Given the description of an element on the screen output the (x, y) to click on. 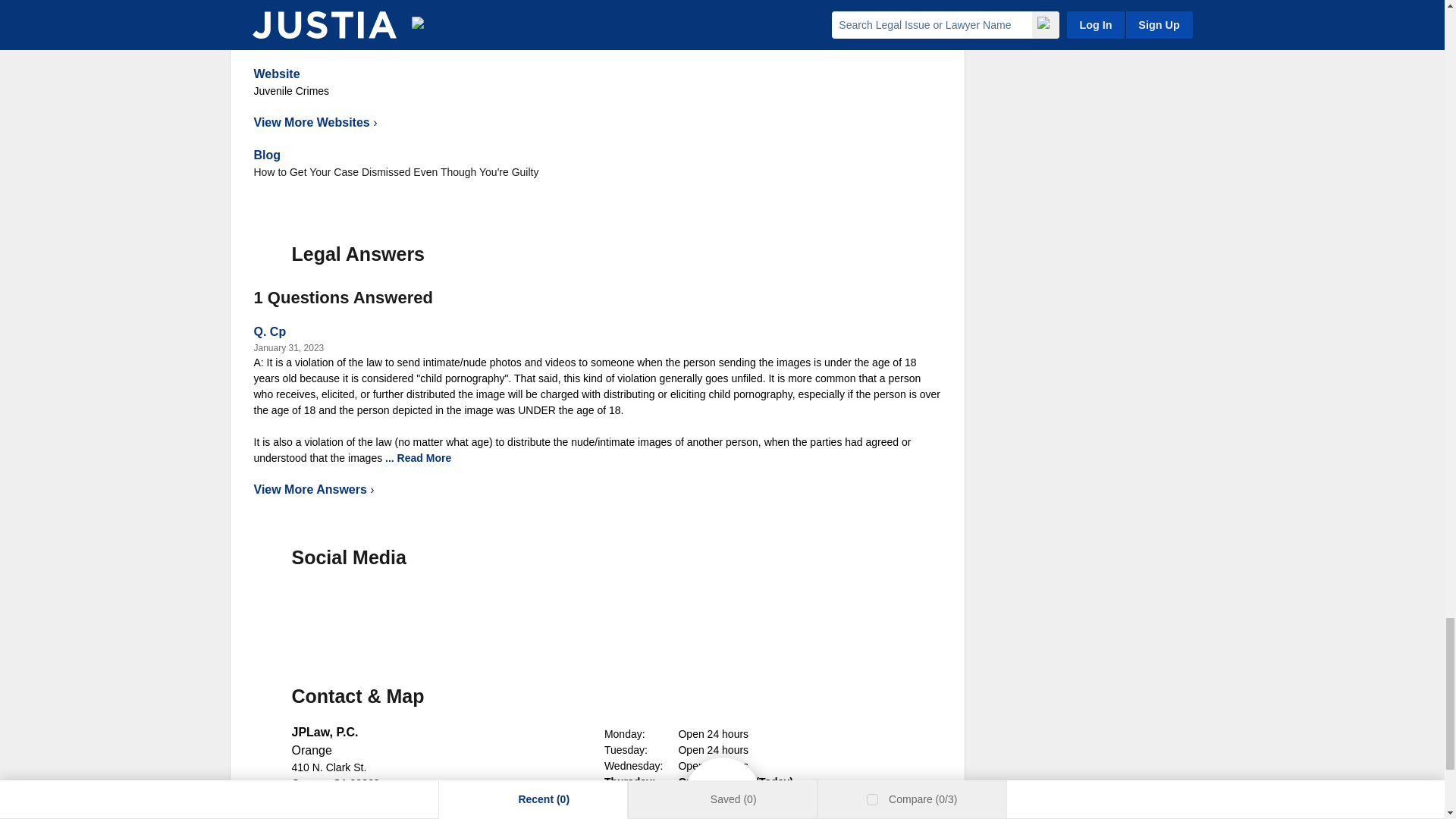
John-Patrick Mullen-Lujan on Facebook (275, 606)
John-Patrick Mullen-Lujan on LinkedIn (328, 606)
John-Patrick Mullen-Lujan's Avvo Profile (435, 606)
 Justia Profile (381, 606)
down2 (457, 457)
